Given the description of an element on the screen output the (x, y) to click on. 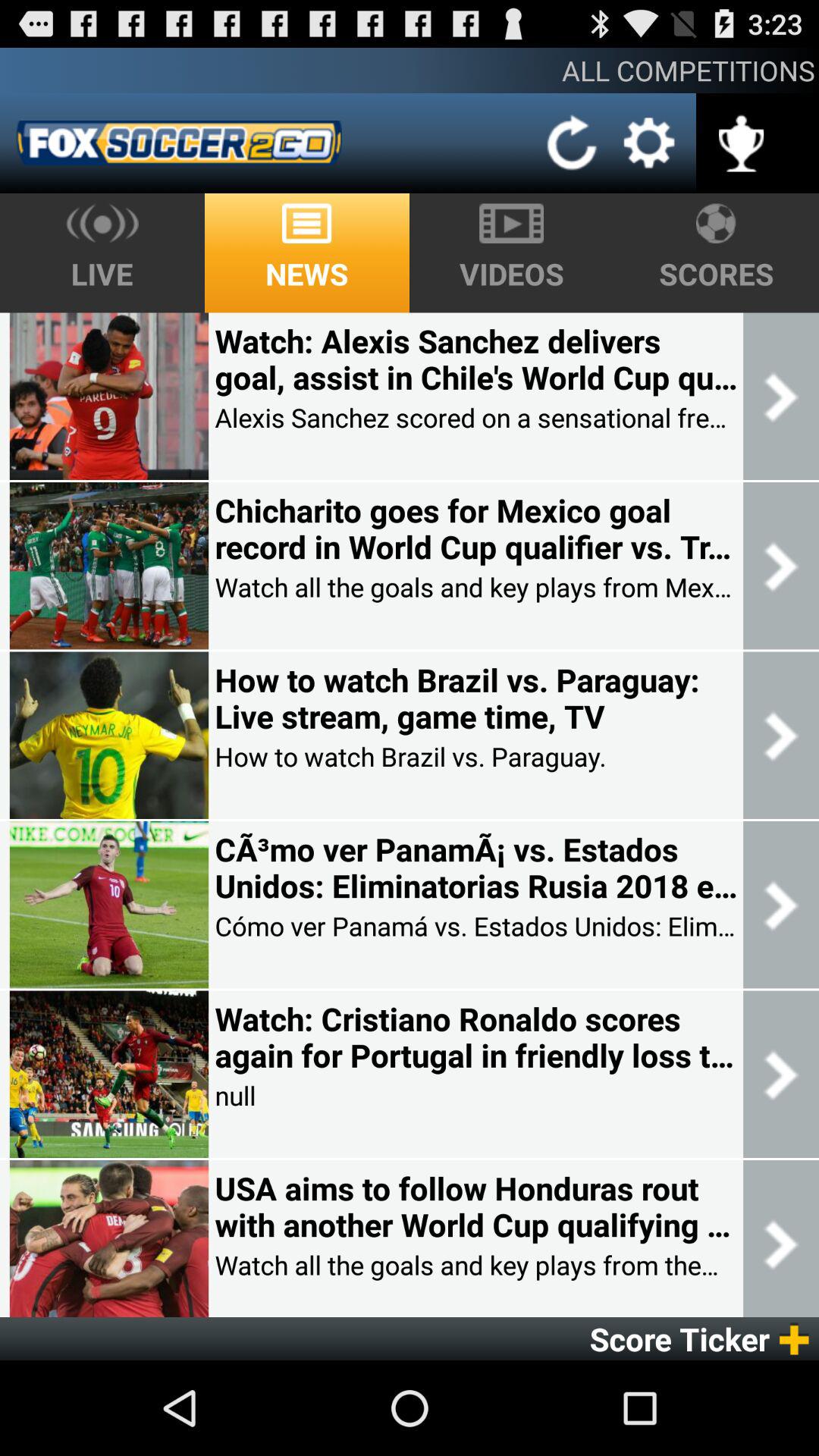
swipe to null icon (234, 1095)
